Given the description of an element on the screen output the (x, y) to click on. 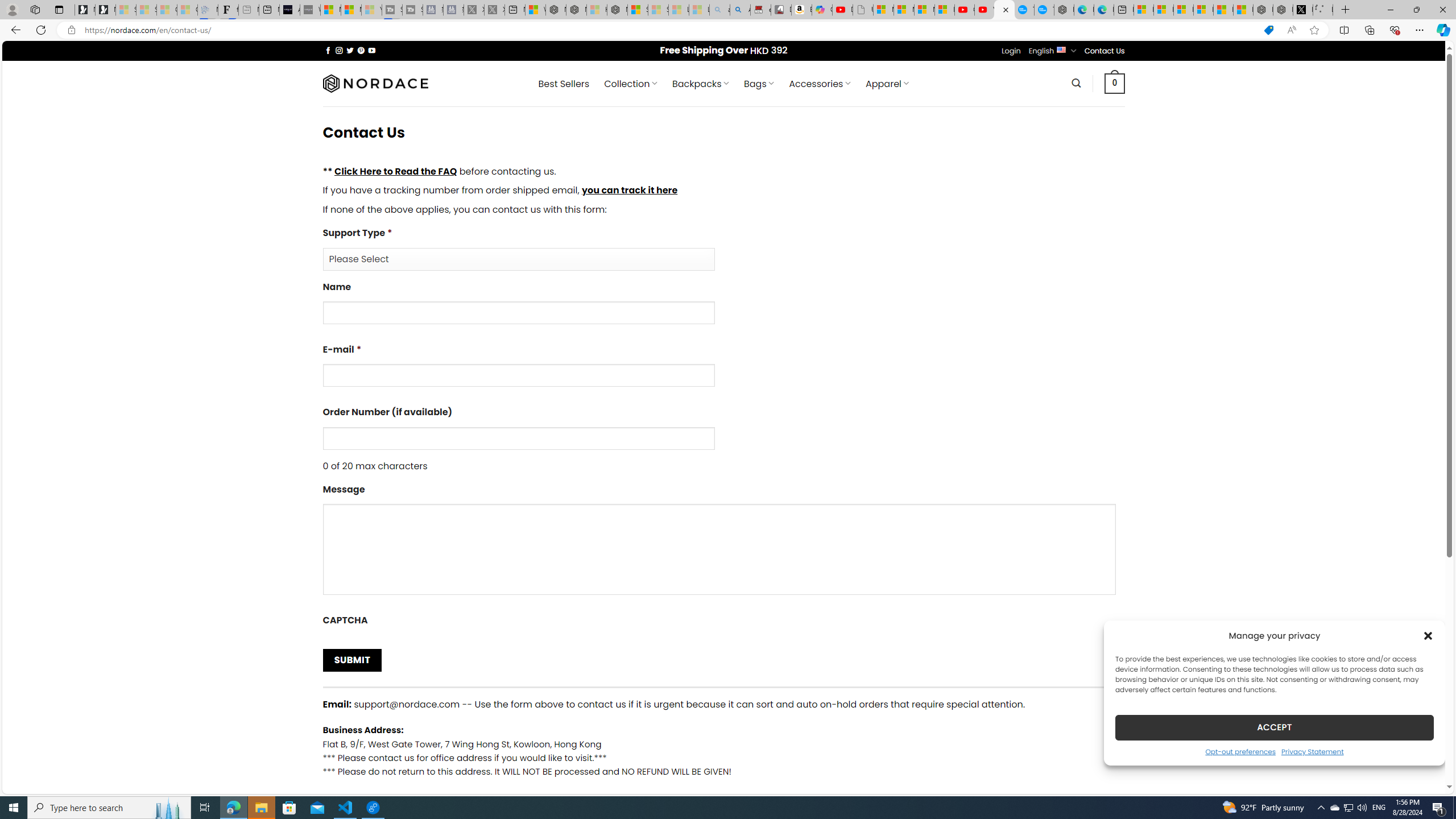
Copilot (821, 9)
Message (723, 543)
Untitled (1322, 9)
